Given the description of an element on the screen output the (x, y) to click on. 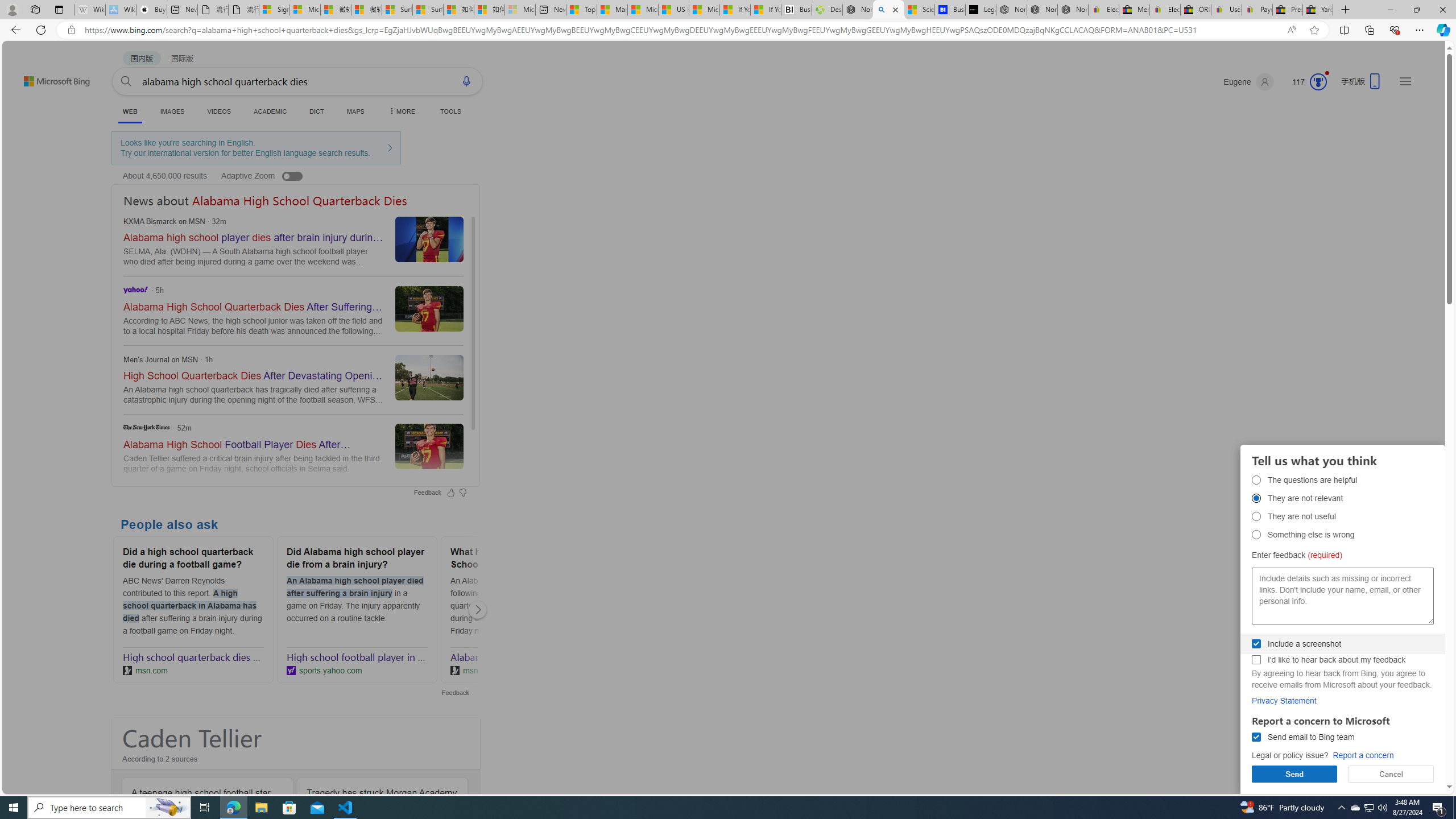
They are not relevant They are not relevant (1256, 497)
Top Stories - MSN (581, 9)
Microsoft Services Agreement (304, 9)
AutomationID: fbpgdgnothelp (1256, 515)
AutomationID: fbpgdgcmchk (1256, 659)
Buy iPad - Apple (151, 9)
Nordace - Summer Adventures 2024 (857, 9)
Include a screenshot Include a screenshot (1256, 643)
alabama high school quarterback dies - Search (887, 9)
